Given the description of an element on the screen output the (x, y) to click on. 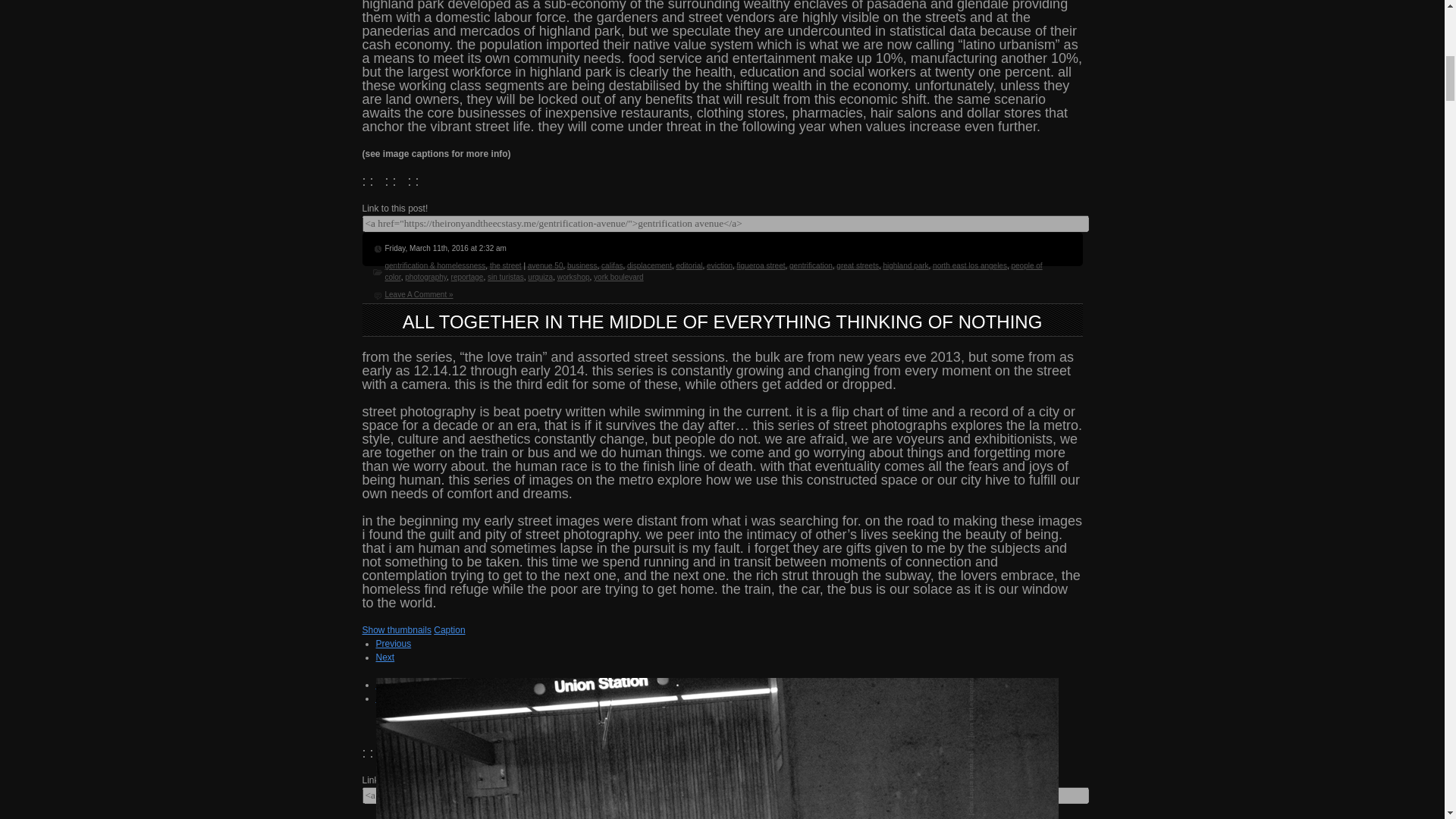
Caption (448, 629)
Show thumbnails (396, 629)
Previous (393, 643)
Next (384, 656)
